Given the description of an element on the screen output the (x, y) to click on. 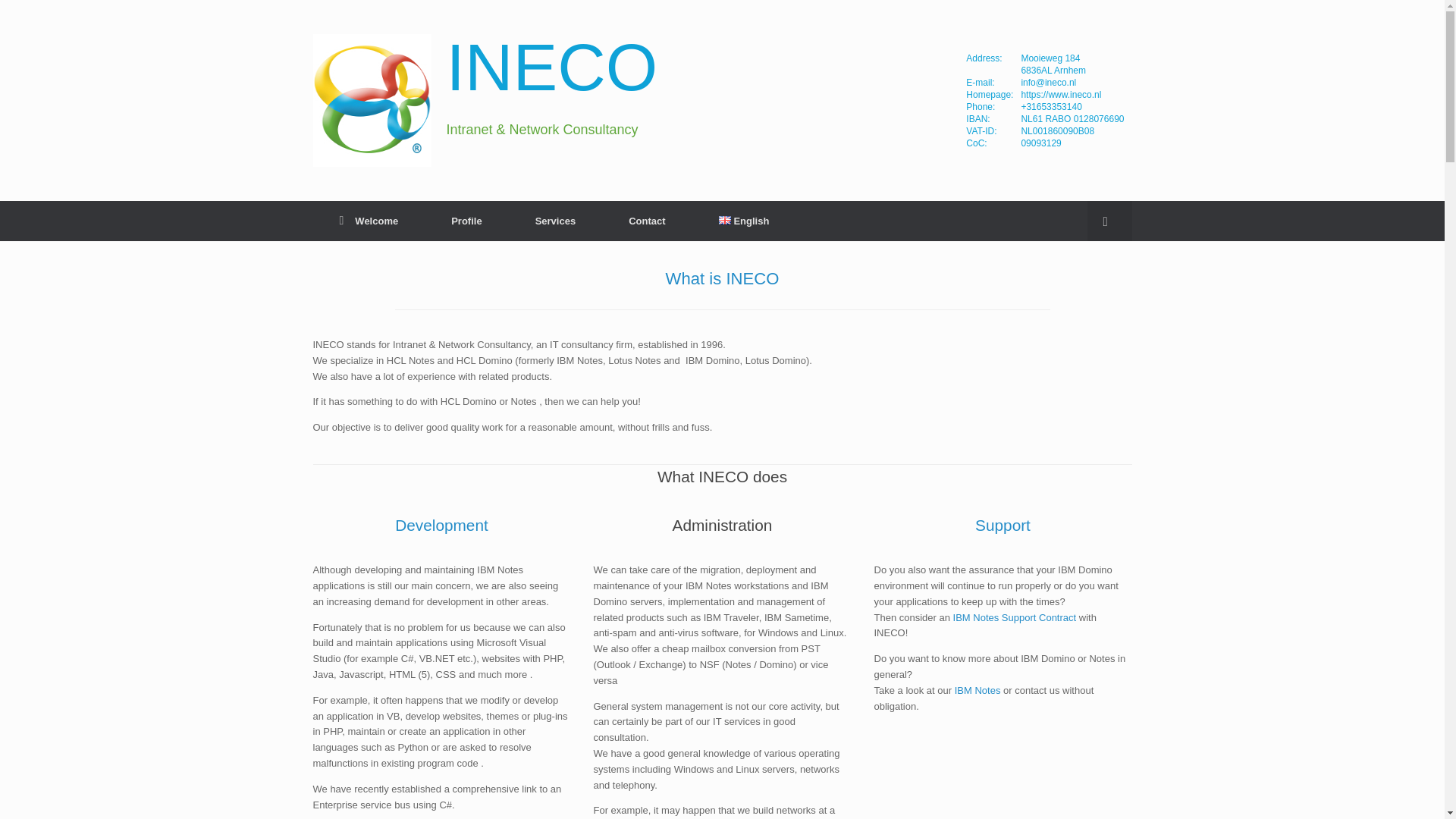
INECO (477, 100)
Profile (466, 220)
Welcome (369, 220)
IBM Notes (978, 690)
Support (1002, 524)
Services (555, 220)
English (744, 220)
IBM Notes Support Contract (1015, 617)
What is INECO (721, 278)
Contact (646, 220)
